Given the description of an element on the screen output the (x, y) to click on. 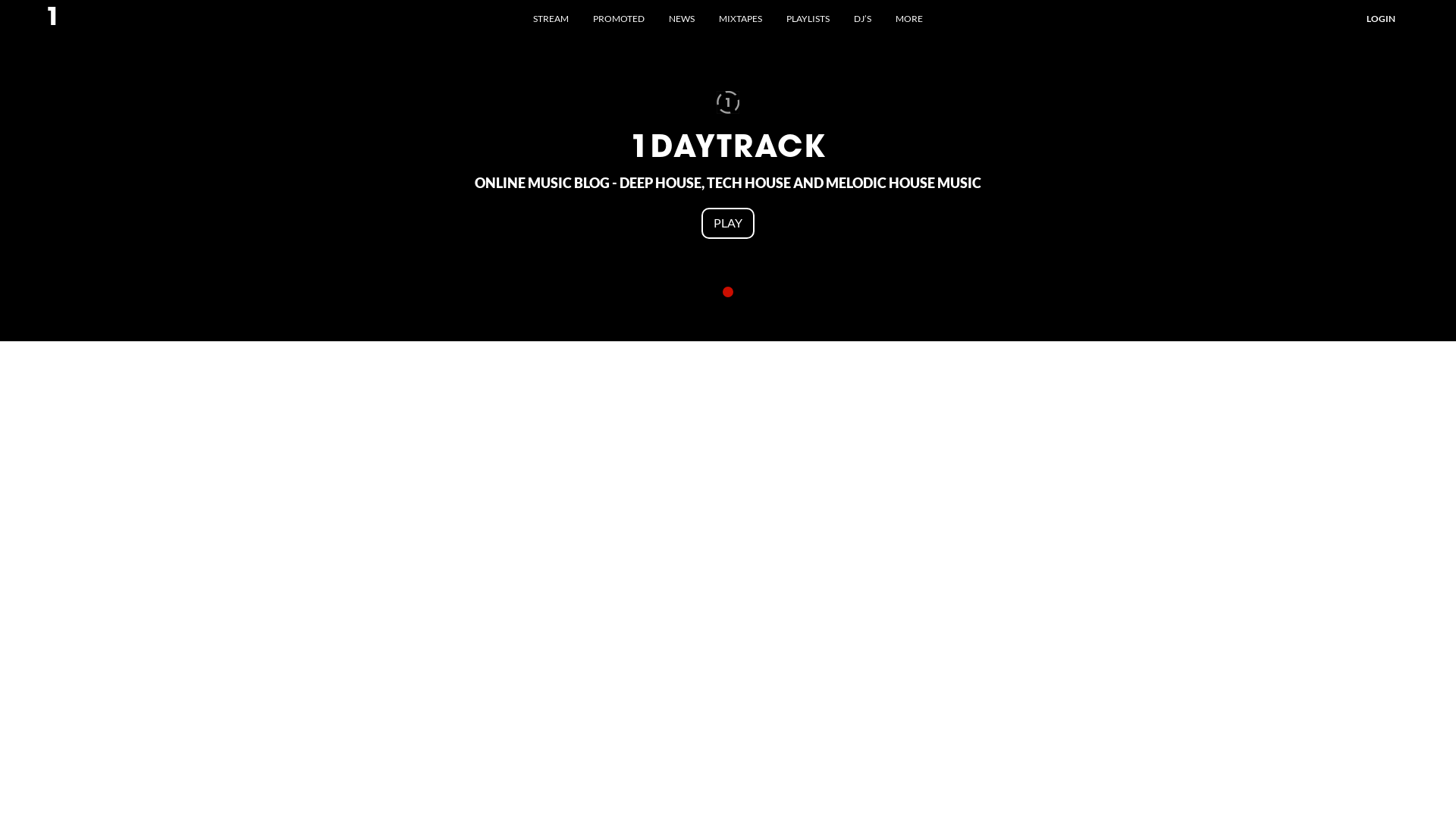
PLAYLISTS Element type: text (807, 17)
LOGIN Element type: text (1380, 17)
PROMOTED Element type: text (618, 17)
MIXTAPES Element type: text (740, 17)
INTRO Element type: text (727, 291)
1 Element type: text (52, 18)
STREAM Element type: text (550, 17)
NEWS Element type: text (681, 17)
PLAY Element type: text (727, 222)
MORE Element type: text (909, 17)
